Given the description of an element on the screen output the (x, y) to click on. 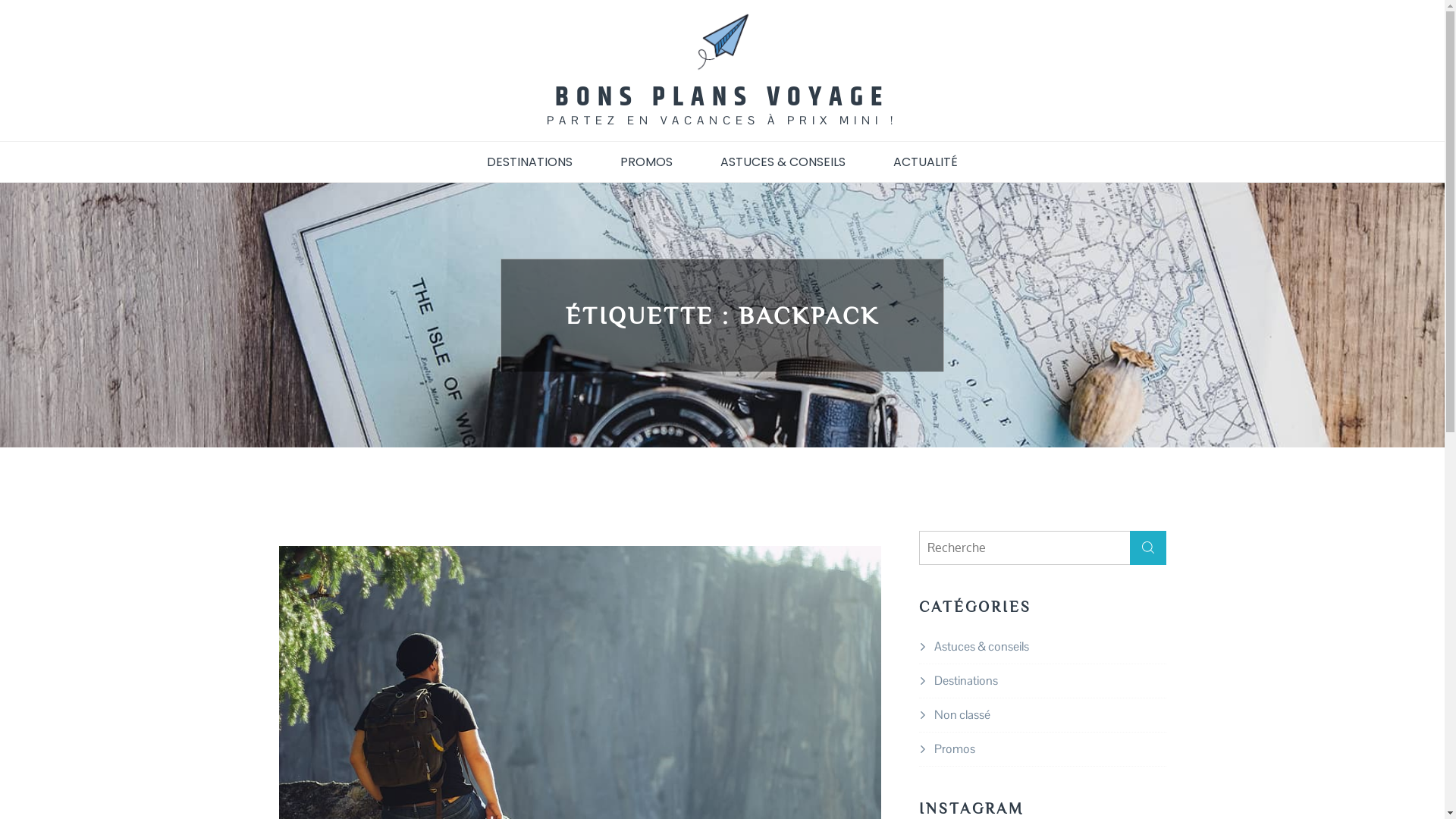
ASTUCES & CONSEILS Element type: text (782, 161)
Skip to content Element type: text (0, 0)
Destinations Element type: text (965, 679)
Promos Element type: text (954, 748)
Search Element type: text (1147, 547)
PROMOS Element type: text (646, 161)
Astuces & conseils Element type: text (981, 646)
DESTINATIONS Element type: text (529, 161)
BONS PLANS VOYAGE Element type: text (722, 97)
